Given the description of an element on the screen output the (x, y) to click on. 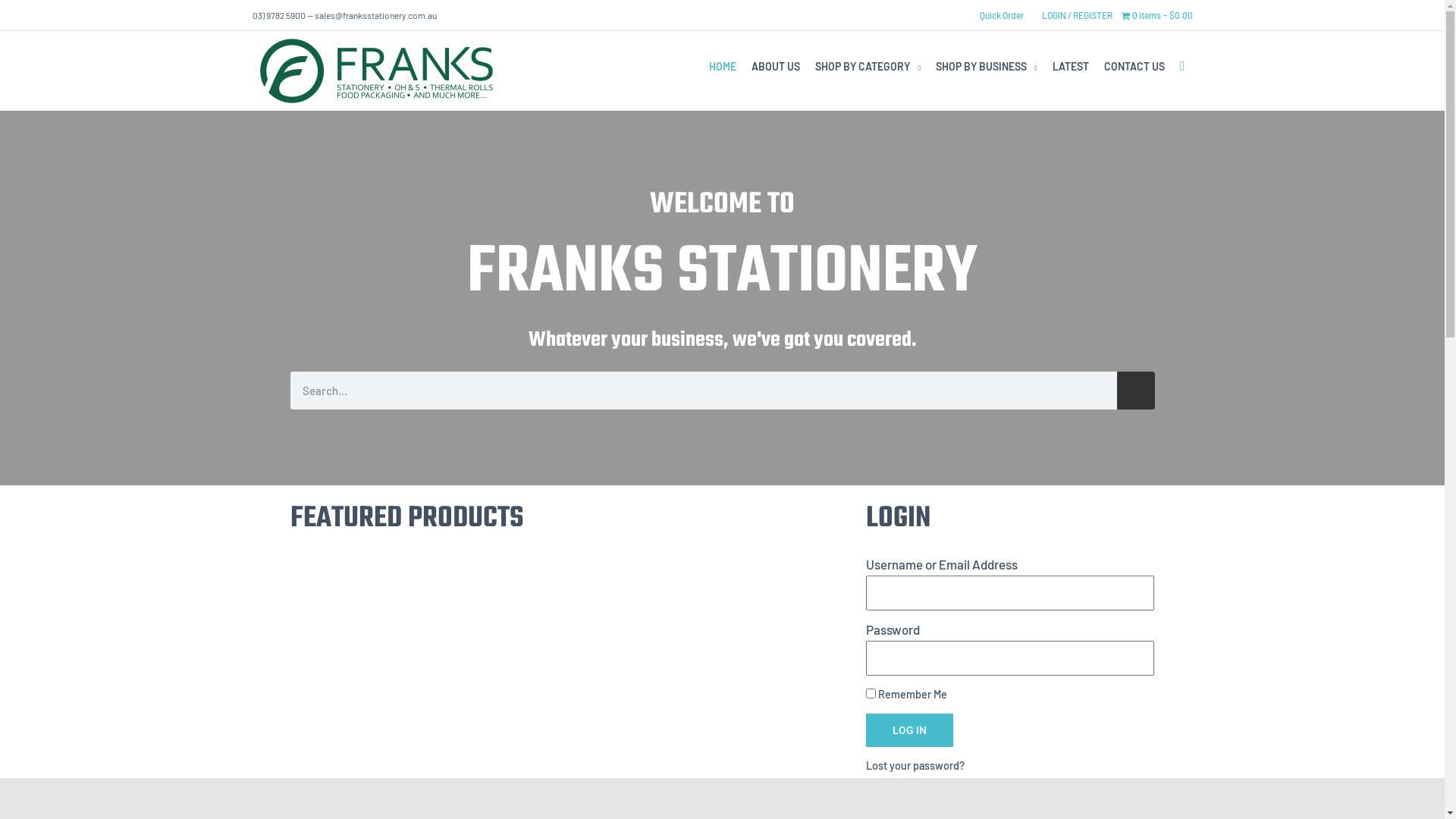
CONTACT US Element type: text (1134, 66)
LOGIN / REGISTER Element type: text (1076, 15)
SHOP BY BUSINESS Element type: text (986, 66)
Quick Order Element type: text (1001, 15)
SHOP BY CATEGORY Element type: text (867, 66)
0 items$0.00 Element type: text (1156, 14)
Lost your password? Element type: text (915, 766)
HOME Element type: text (722, 66)
ABOUT US Element type: text (775, 66)
LOG IN Element type: text (909, 729)
LATEST Element type: text (1070, 66)
